Given the description of an element on the screen output the (x, y) to click on. 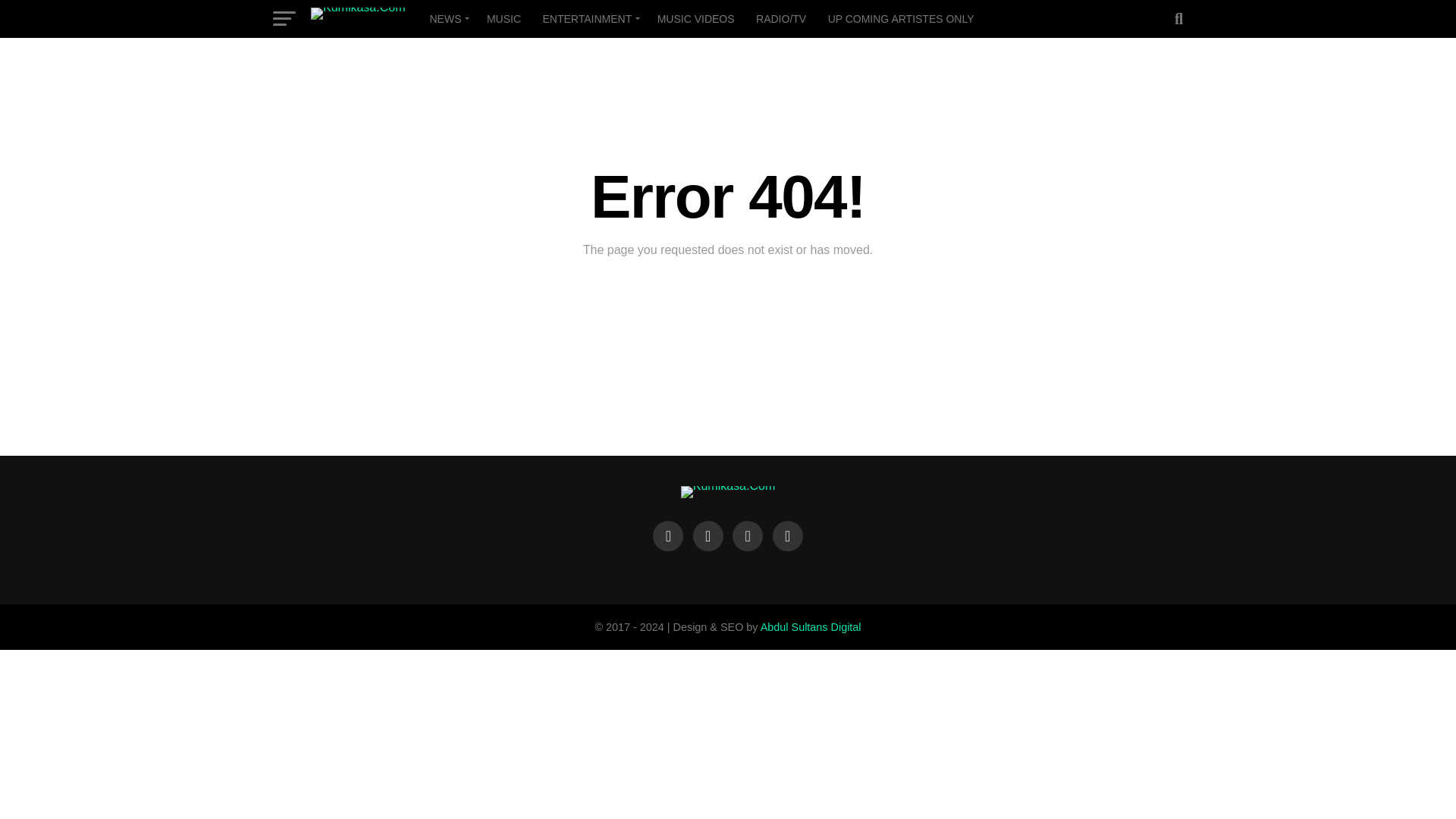
NEWS (447, 18)
MUSIC (503, 18)
ENTERTAINMENT (589, 18)
